Given the description of an element on the screen output the (x, y) to click on. 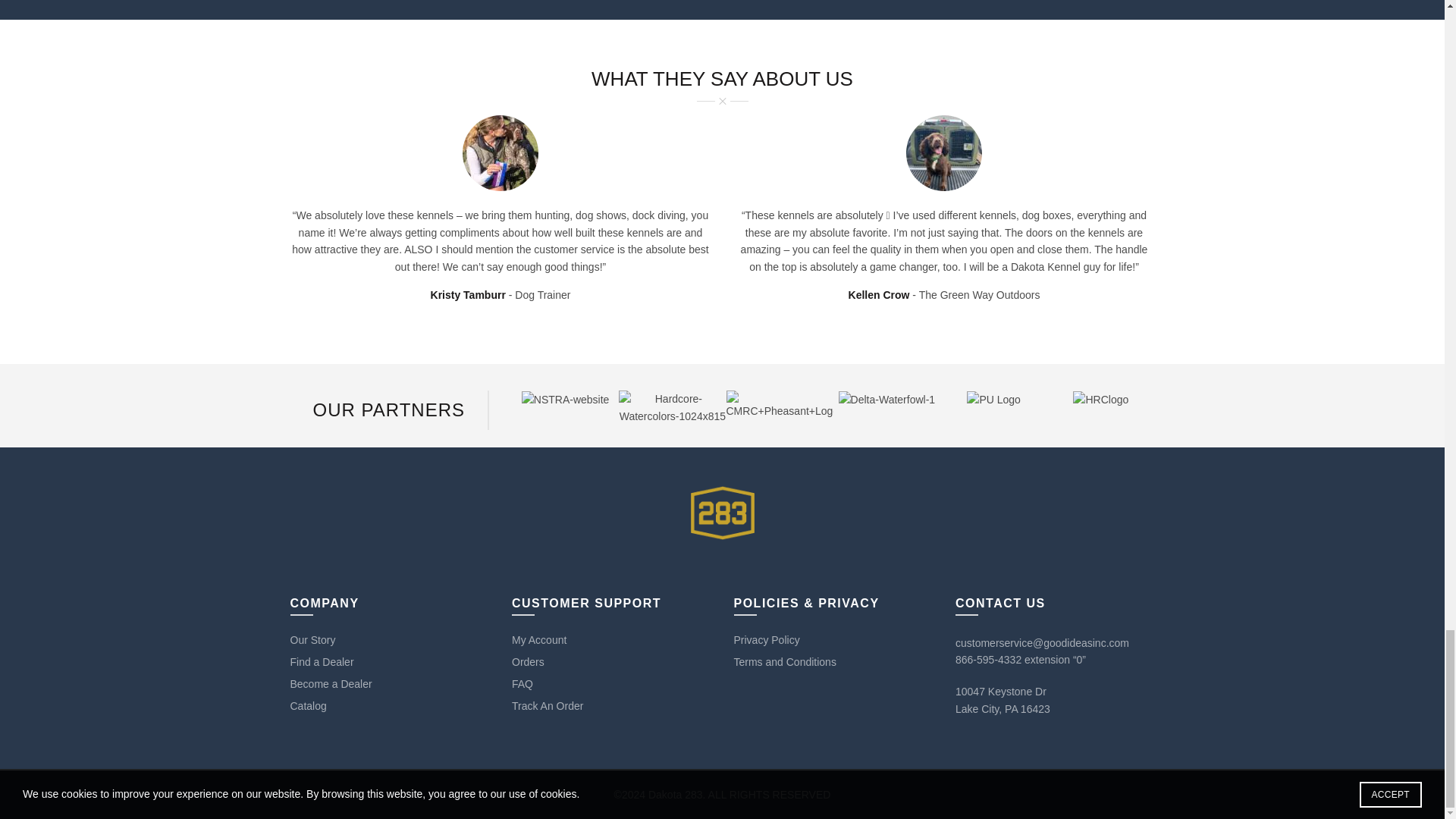
Dakota 283 (721, 512)
Medium-Olive-D283 (943, 152)
Hardcore-Watercolors-1024x815 (671, 407)
HRClogo (1100, 399)
PU Logo (993, 399)
NSTRA-website (565, 399)
Kristy-Tamburr (500, 152)
Delta-Waterfowl-1 (887, 399)
